Given the description of an element on the screen output the (x, y) to click on. 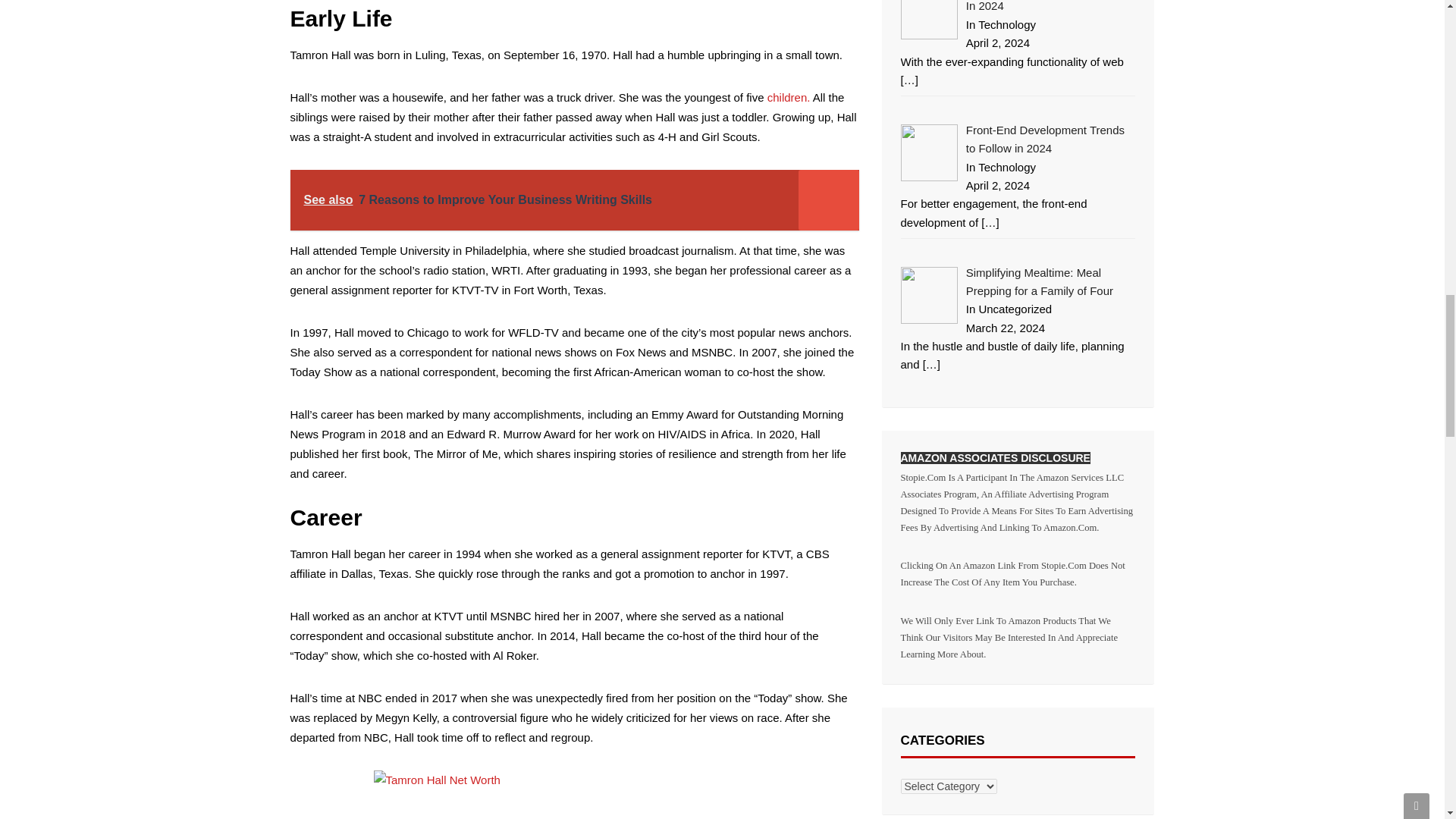
See also  7 Reasons to Improve Your Business Writing Skills (574, 199)
children. (788, 97)
